Given the description of an element on the screen output the (x, y) to click on. 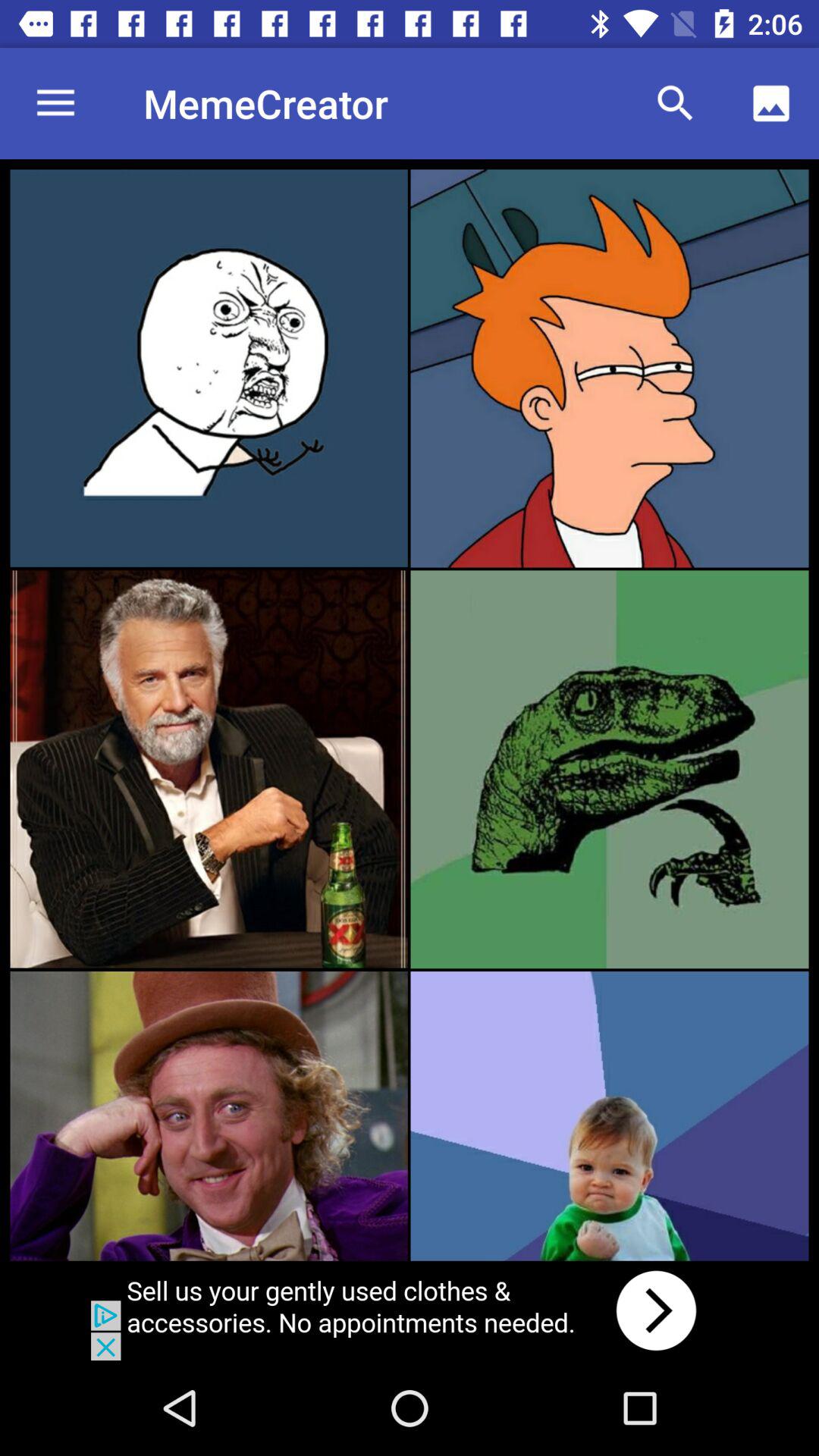
advertisement (409, 1310)
